Given the description of an element on the screen output the (x, y) to click on. 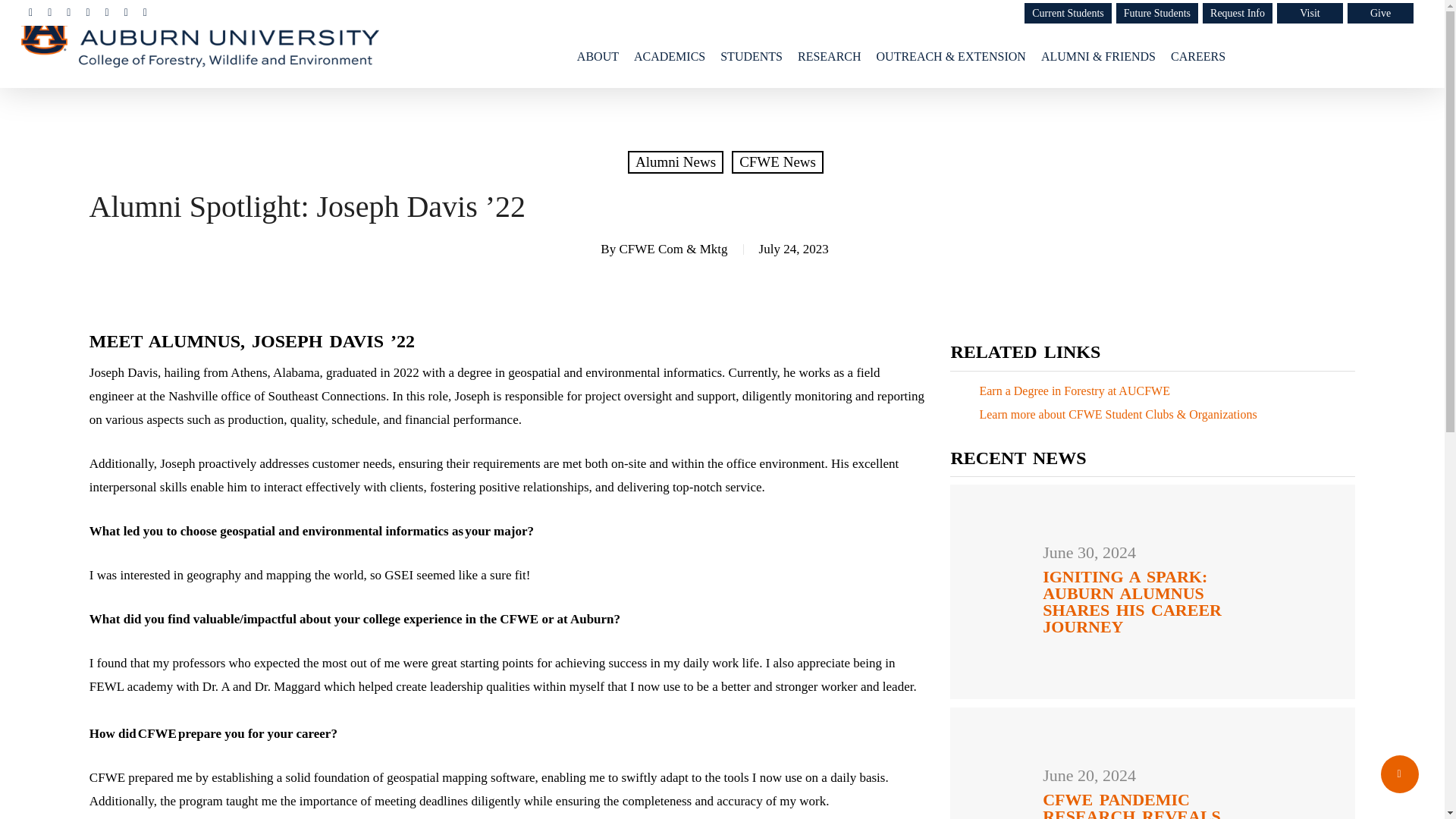
Current Students (1068, 13)
Future Students (1157, 13)
Visit (1309, 13)
Request Info (1237, 13)
ABOUT (597, 56)
Give (1380, 13)
